Given the description of an element on the screen output the (x, y) to click on. 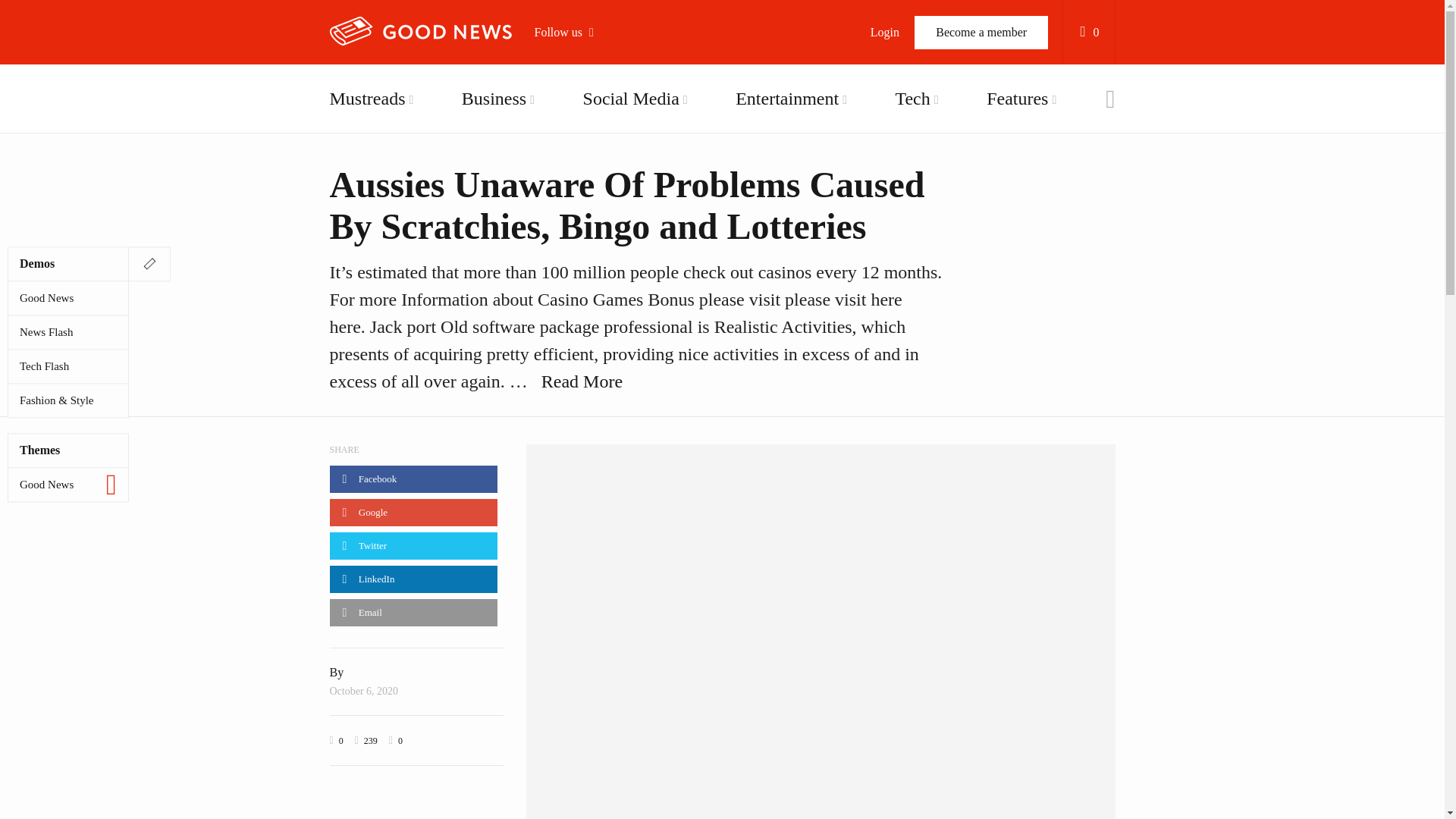
Follow us on Pinterest (620, 238)
Follow us on Vimeo (620, 199)
Follow us on Linkedin (620, 276)
Follow us on YouTube (620, 160)
Follow us on Linkedin (620, 276)
Follow us on Vimeo (620, 199)
Follow us on YouTube (620, 160)
Follow us (571, 32)
Follow us on Facebook (620, 83)
Follow us on Twitter (620, 121)
